Given the description of an element on the screen output the (x, y) to click on. 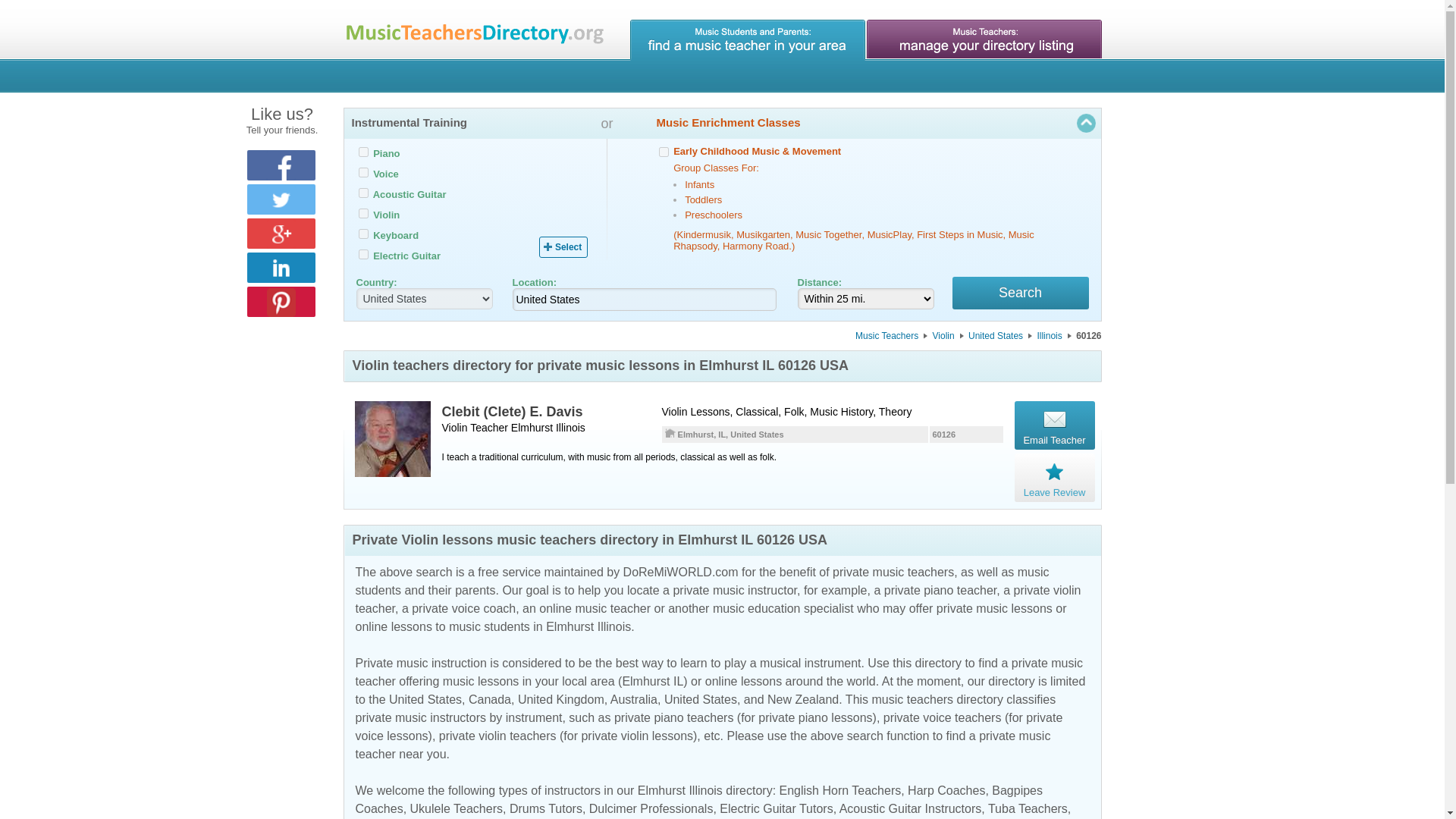
Canada (489, 698)
United States (699, 698)
online music teacher (594, 608)
Manage your Directory Listing at DoReMiWorld.com (983, 39)
Music Teachers (893, 335)
8 (363, 213)
Illinois (1054, 335)
Drums Tutors (545, 808)
Search (1020, 292)
Tuba Teachers (1027, 808)
Leave Review (1054, 477)
New Zealand (802, 698)
Ukulele Teachers (456, 808)
32 (363, 254)
Email Teacher (1054, 425)
